Given the description of an element on the screen output the (x, y) to click on. 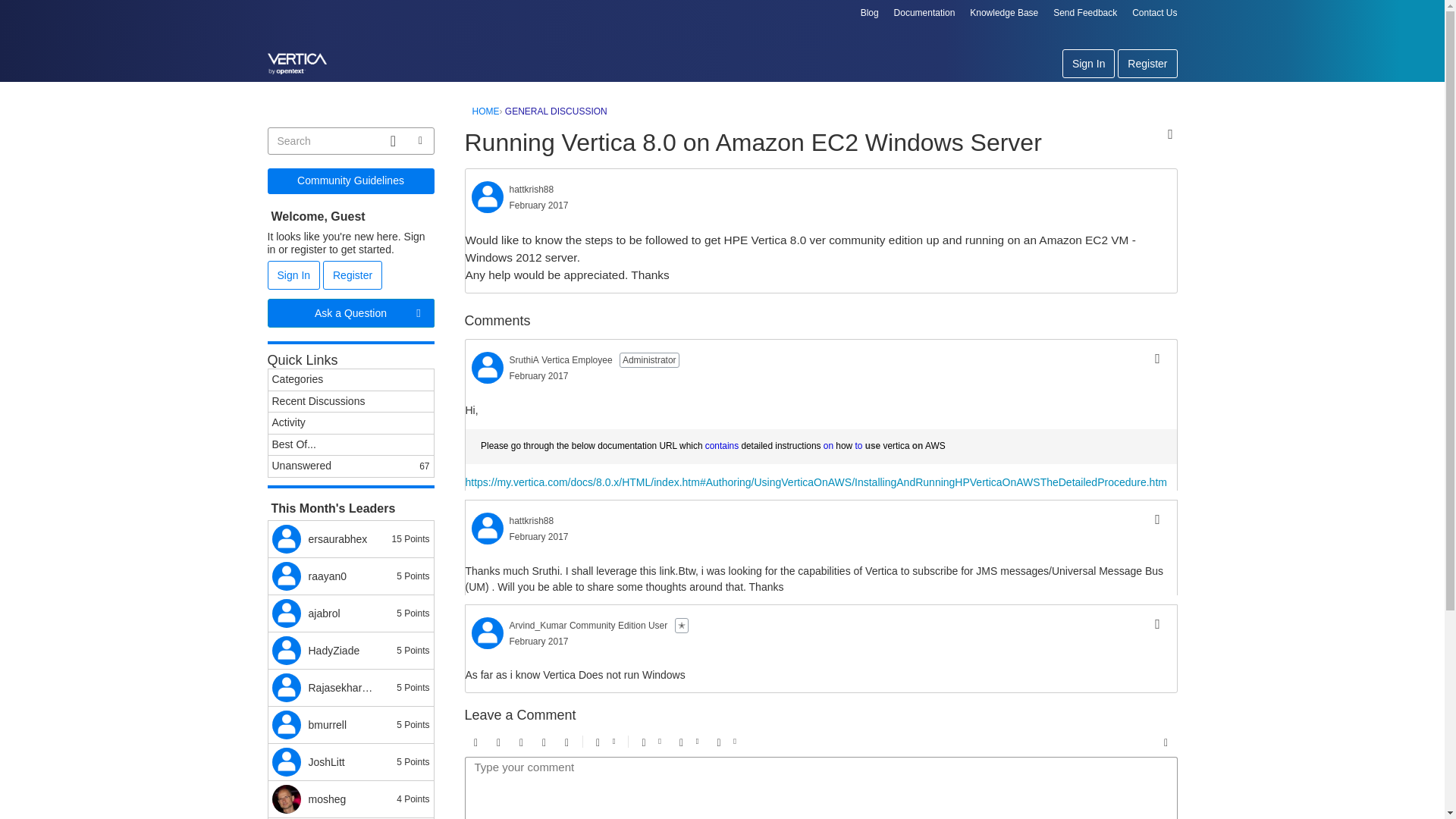
Contact Us (1154, 12)
February 2017 (539, 376)
February 2017 (539, 204)
hattkrish88 (531, 520)
hattkrish88 (487, 528)
Blog (869, 12)
hattkrish88 (531, 189)
SruthiA (523, 359)
Strikethrough (521, 742)
February 9, 2017 8:06PM (539, 376)
Register (1147, 63)
February 2017 (539, 536)
February 10, 2017 5:45AM (539, 536)
Bold (475, 742)
